Given the description of an element on the screen output the (x, y) to click on. 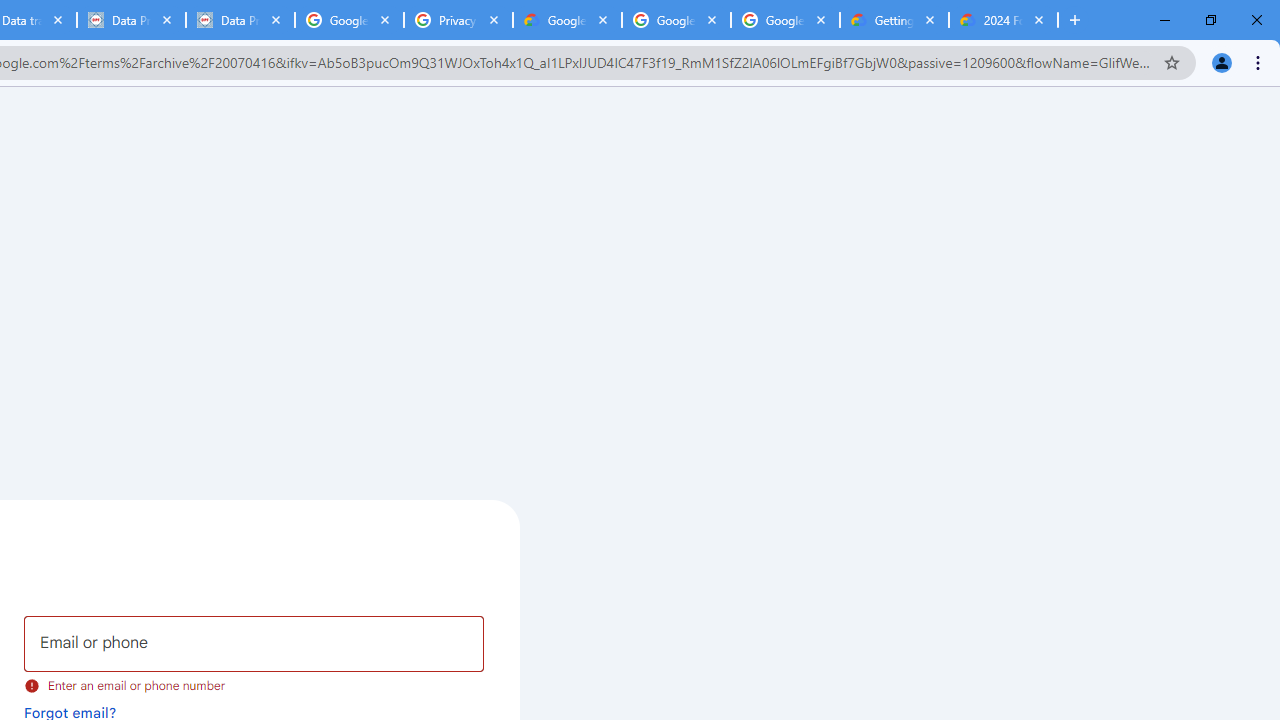
Google Workspace - Specific Terms (676, 20)
Email or phone (253, 643)
Data Privacy Framework (130, 20)
Google Workspace - Specific Terms (784, 20)
Data Privacy Framework (240, 20)
